Given the description of an element on the screen output the (x, y) to click on. 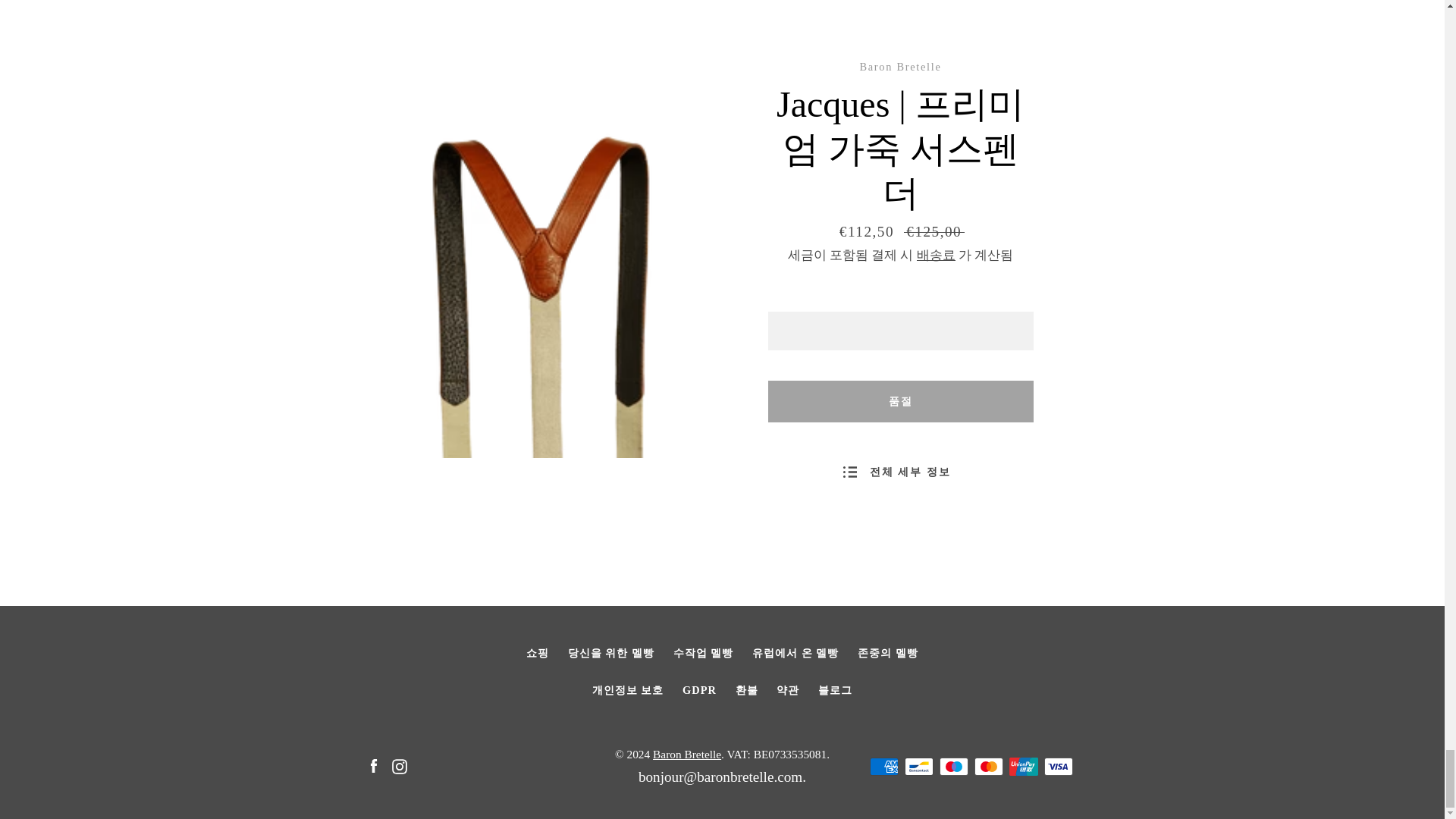
American Express (883, 766)
Union Pay (1022, 766)
GDPR (699, 689)
Visa (1057, 766)
Bancontact (918, 766)
Mastercard (988, 766)
Maestro (953, 766)
